Given the description of an element on the screen output the (x, y) to click on. 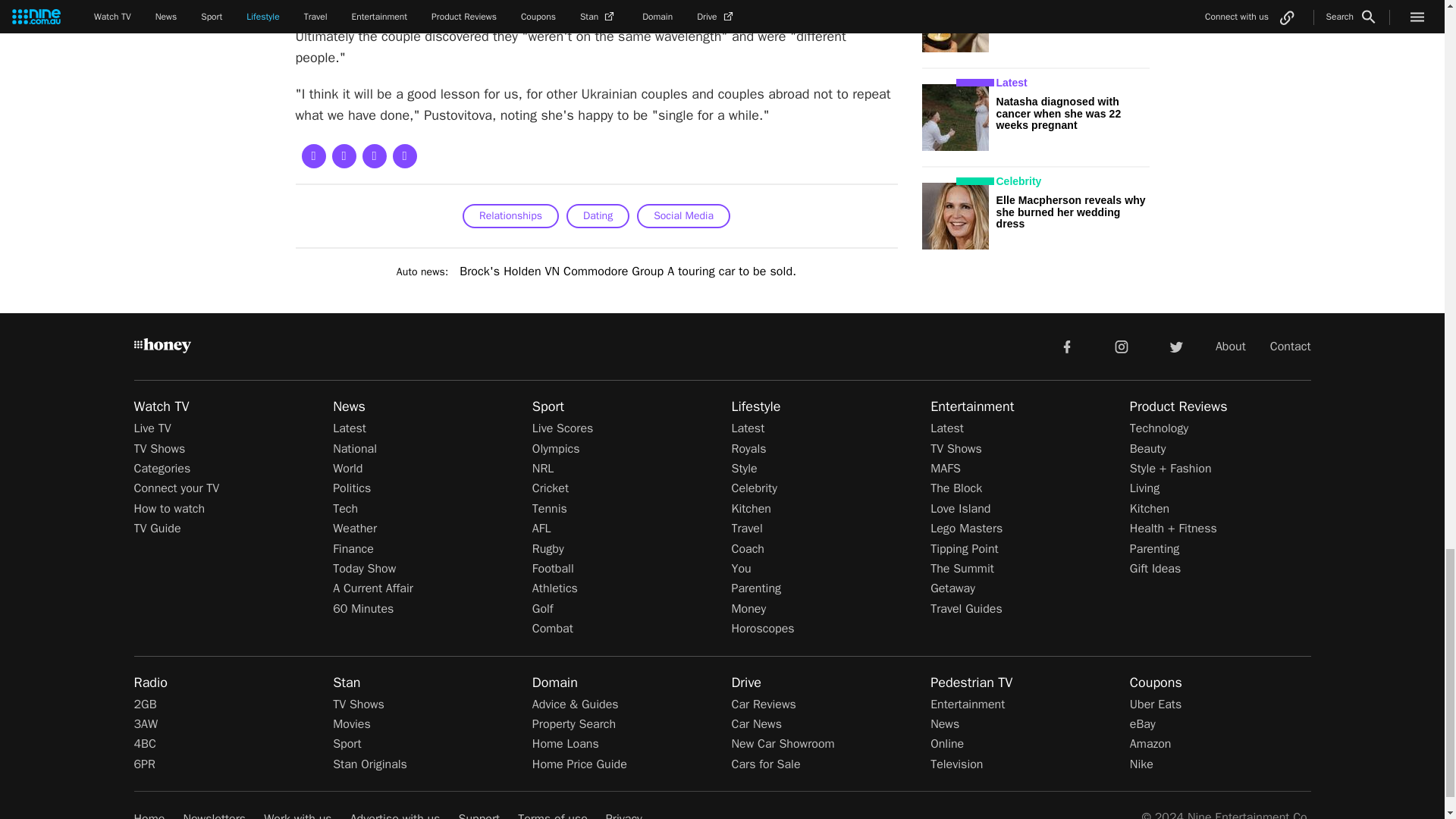
Social Media (683, 215)
facebook (1066, 345)
Relationships (511, 215)
Dating (597, 215)
twitter (1175, 345)
instagram (1121, 345)
